Given the description of an element on the screen output the (x, y) to click on. 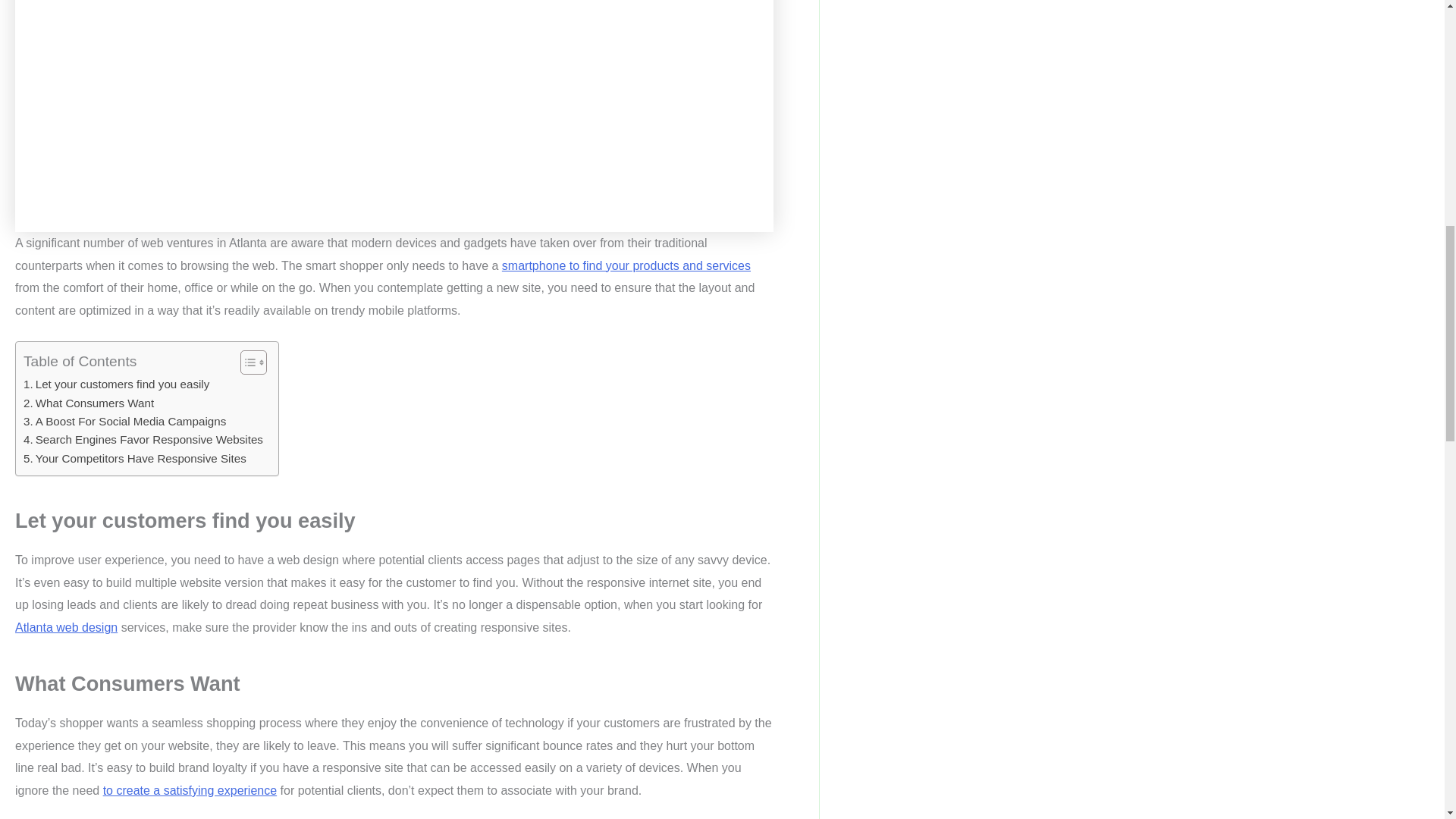
to create a satisfying experience (189, 789)
What Consumers Want (88, 402)
A Boost For Social Media Campaigns (124, 421)
smartphone to find your products and services (626, 265)
A Boost For Social Media Campaigns (124, 421)
Let your customers find you easily (116, 384)
Search Engines Favor Responsive Websites (143, 439)
Your Competitors Have Responsive Sites (134, 458)
What Consumers Want (88, 402)
Let your customers find you easily (116, 384)
Atlanta web design (65, 626)
Your Competitors Have Responsive Sites (134, 458)
Search Engines Favor Responsive Websites (143, 439)
